Given the description of an element on the screen output the (x, y) to click on. 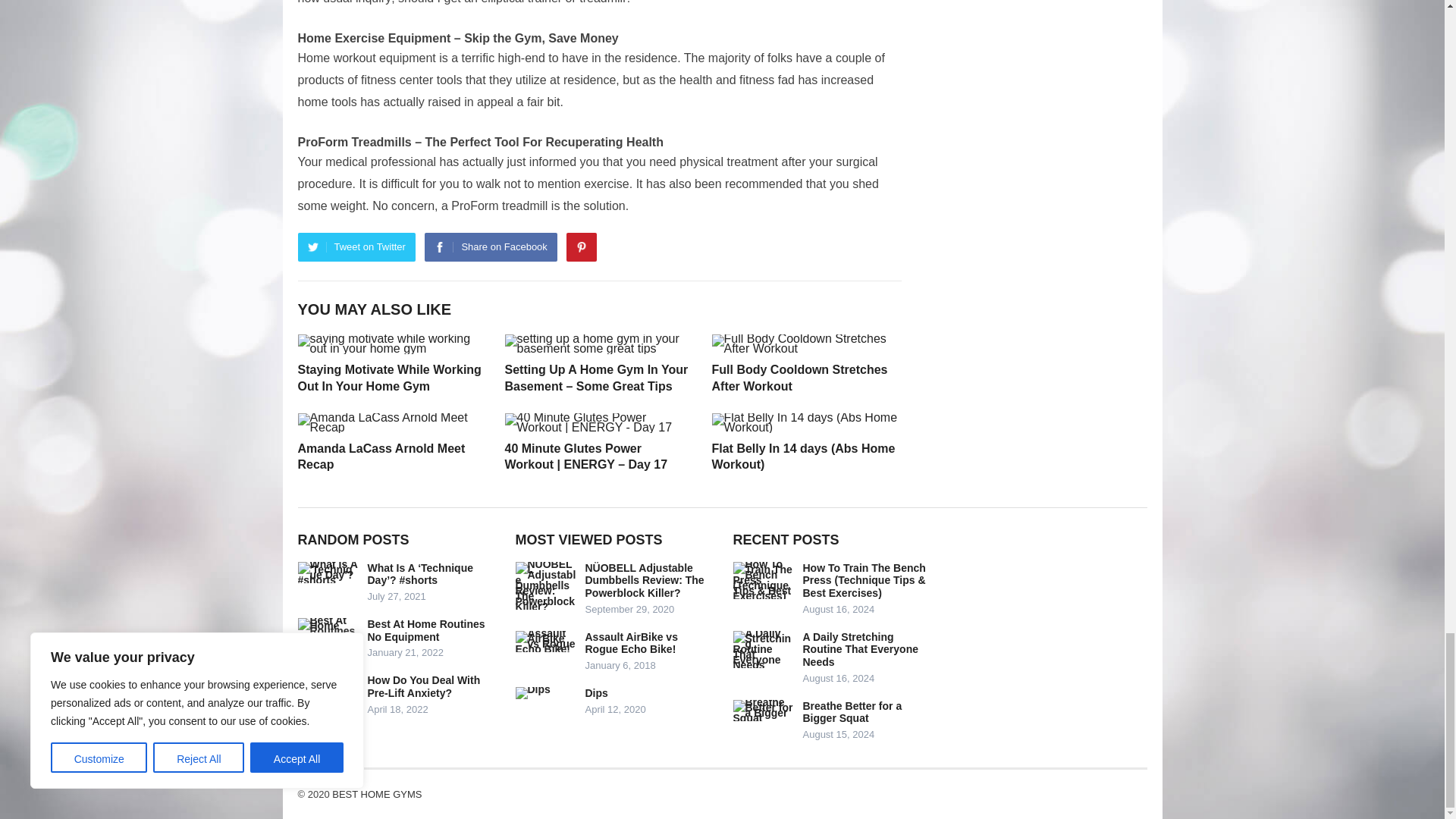
Staying Motivate While Working Out In Your Home Gym 2 (391, 343)
Full Body Cooldown Stretches After Workout 6 (805, 343)
Amanda LaCass Arnold Meet Recap 8 (391, 423)
Setting Up A Home Gym In Your Basement - Some Great Tips 4 (599, 343)
